Given the description of an element on the screen output the (x, y) to click on. 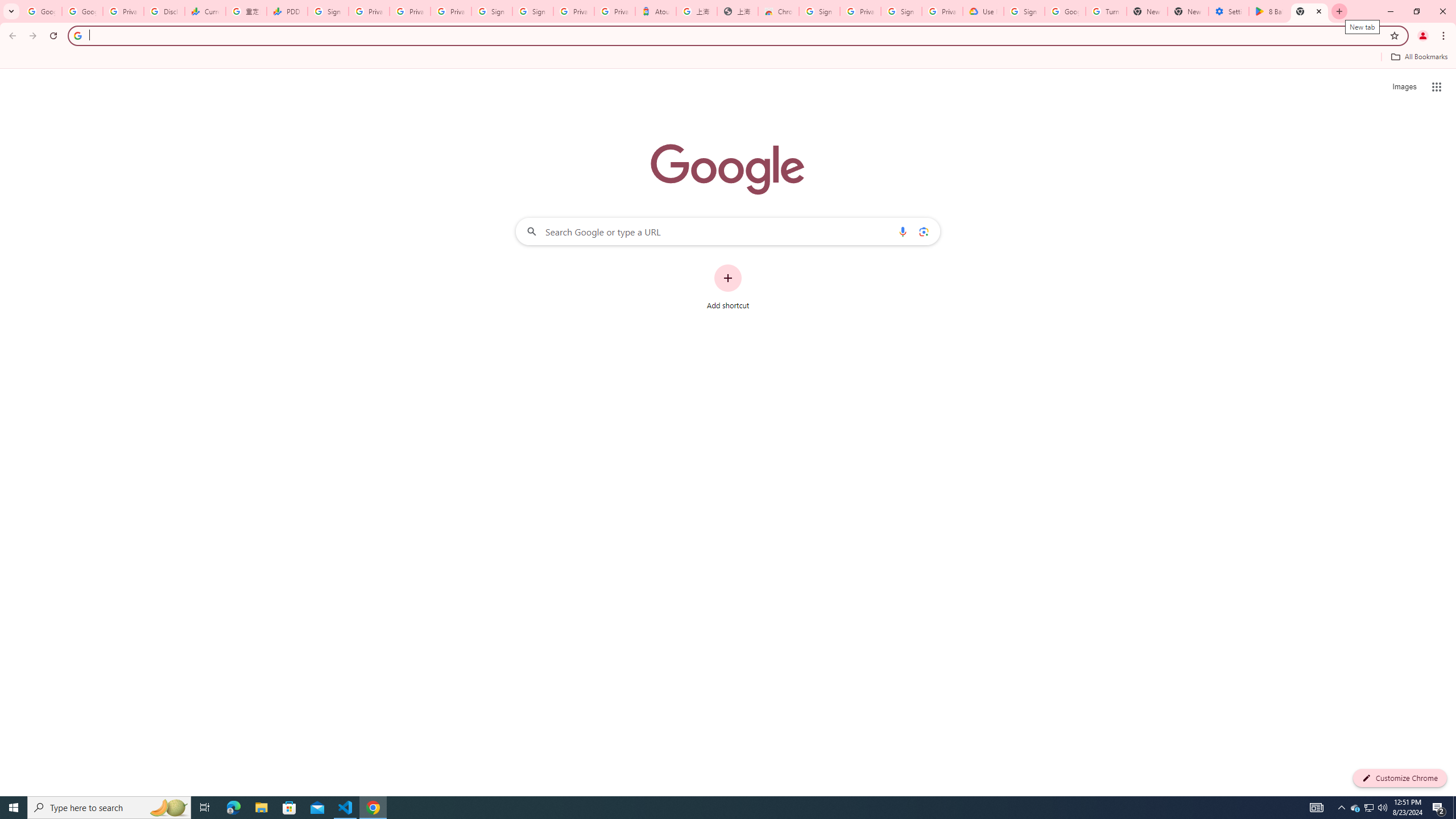
Atour Hotel - Google hotels (655, 11)
Sign in - Google Accounts (532, 11)
8 Ball Pool - Apps on Google Play (1268, 11)
Settings - System (1228, 11)
Sign in - Google Accounts (818, 11)
